Given the description of an element on the screen output the (x, y) to click on. 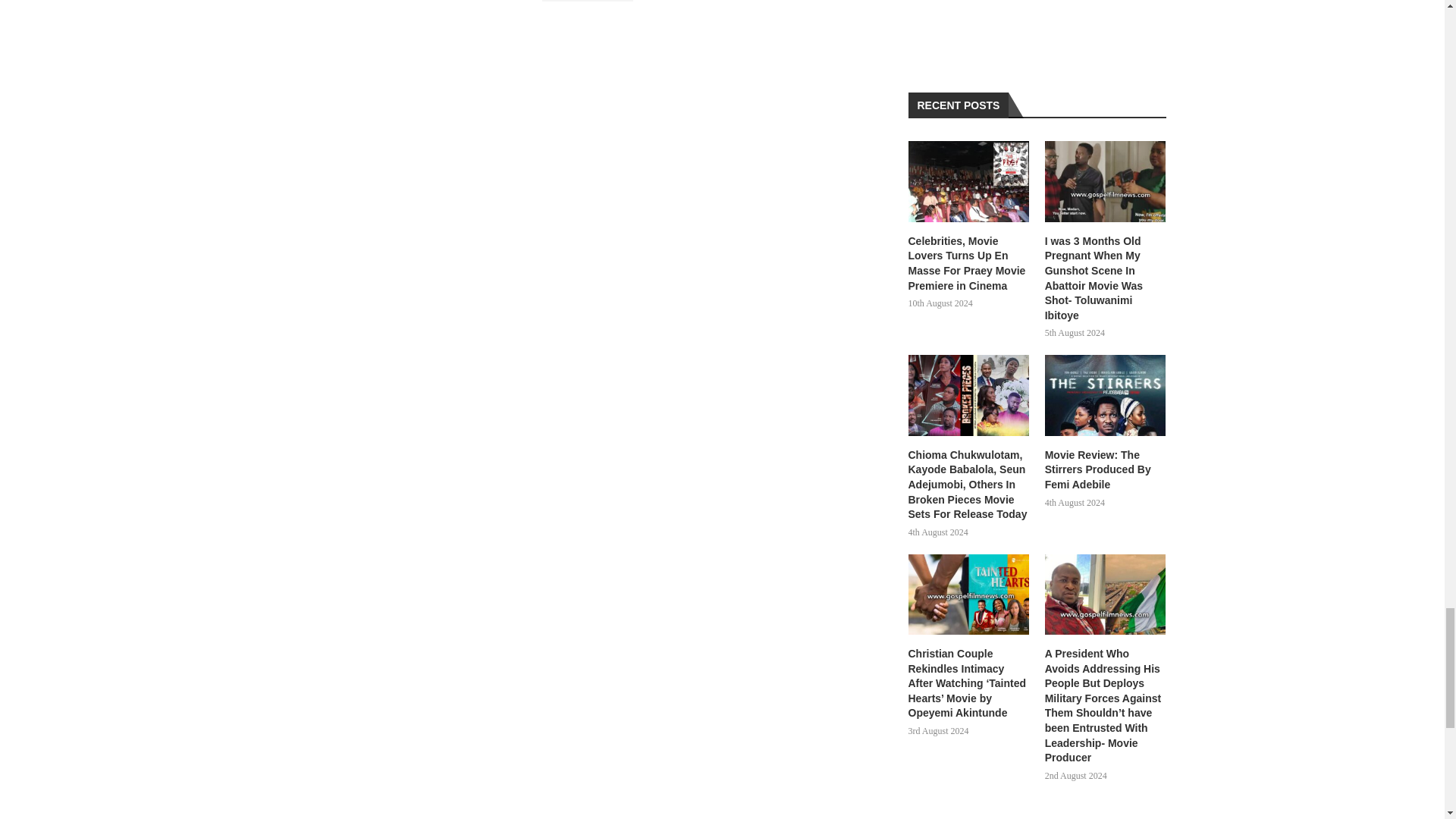
Submit (587, 1)
